Given the description of an element on the screen output the (x, y) to click on. 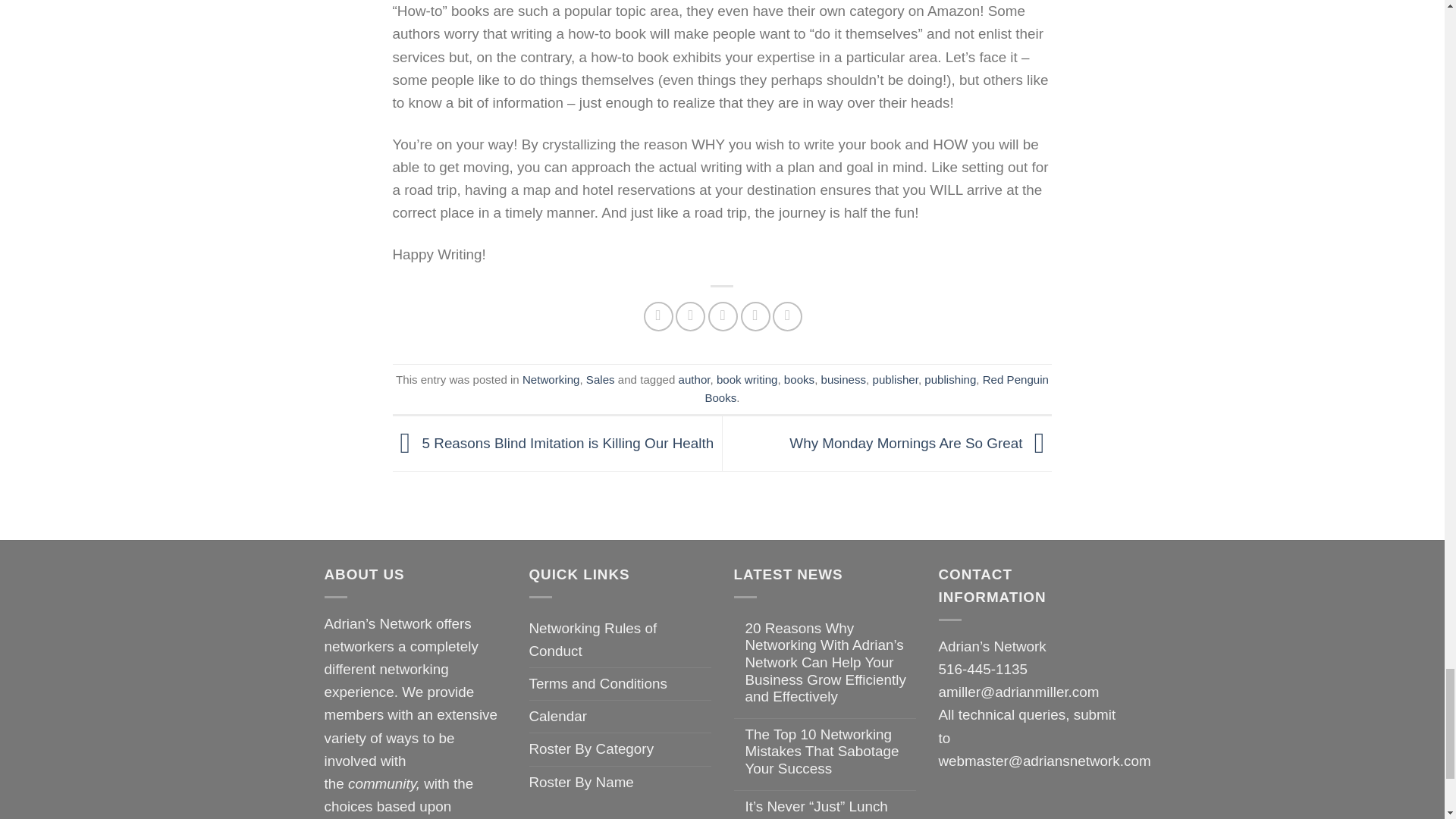
The Top 10 Networking Mistakes That Sabotage Your Success (829, 752)
